Given the description of an element on the screen output the (x, y) to click on. 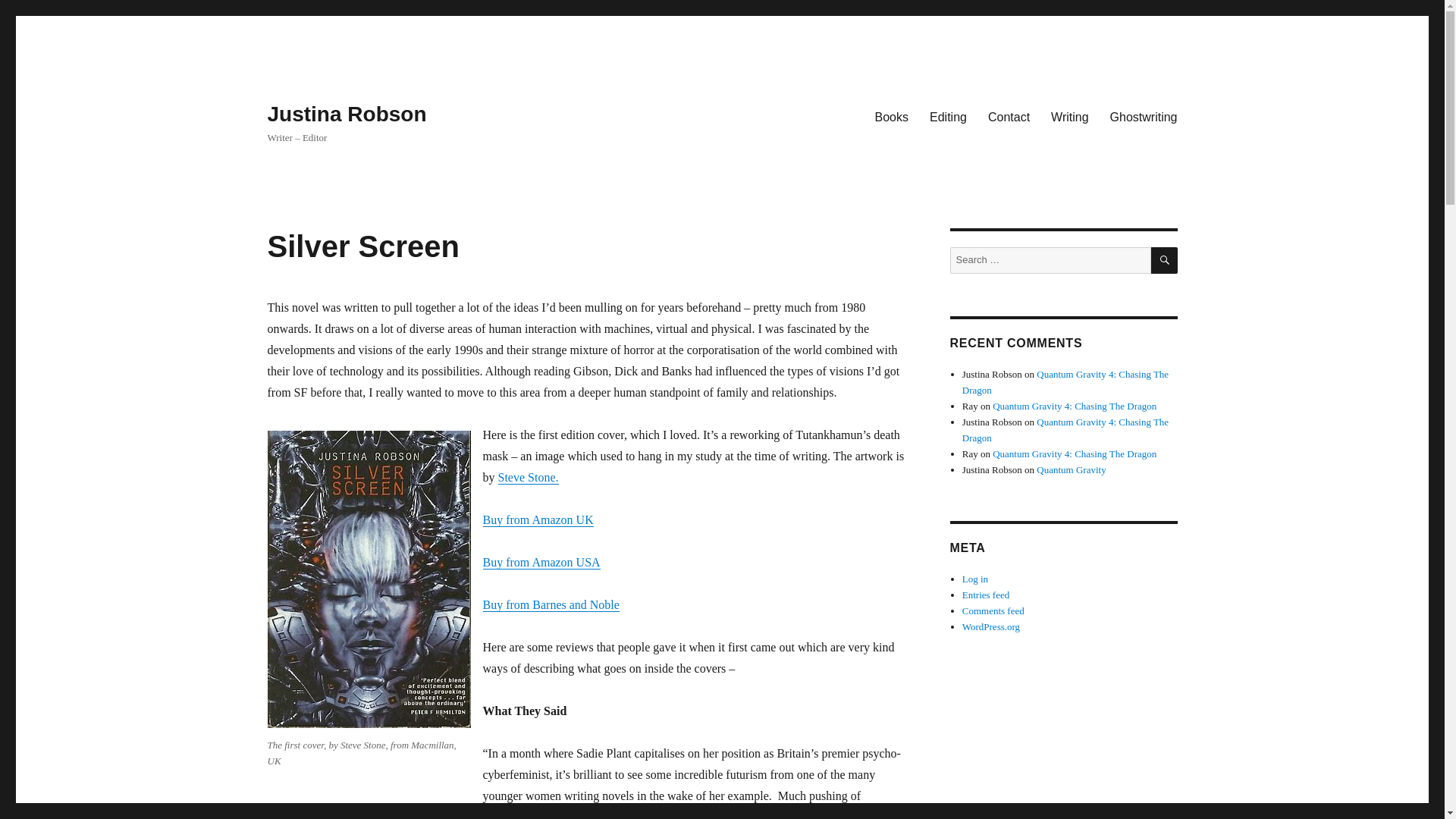
Buy from Amazon UK (536, 519)
Justina Robson (346, 114)
Quantum Gravity 4: Chasing The Dragon (1074, 453)
Log in (975, 578)
Quantum Gravity 4: Chasing The Dragon (1065, 429)
Ghostwriting (1143, 116)
Entries feed (985, 594)
Comments feed (993, 610)
Quantum Gravity (1070, 469)
Buy from Amazon USA (540, 562)
